Given the description of an element on the screen output the (x, y) to click on. 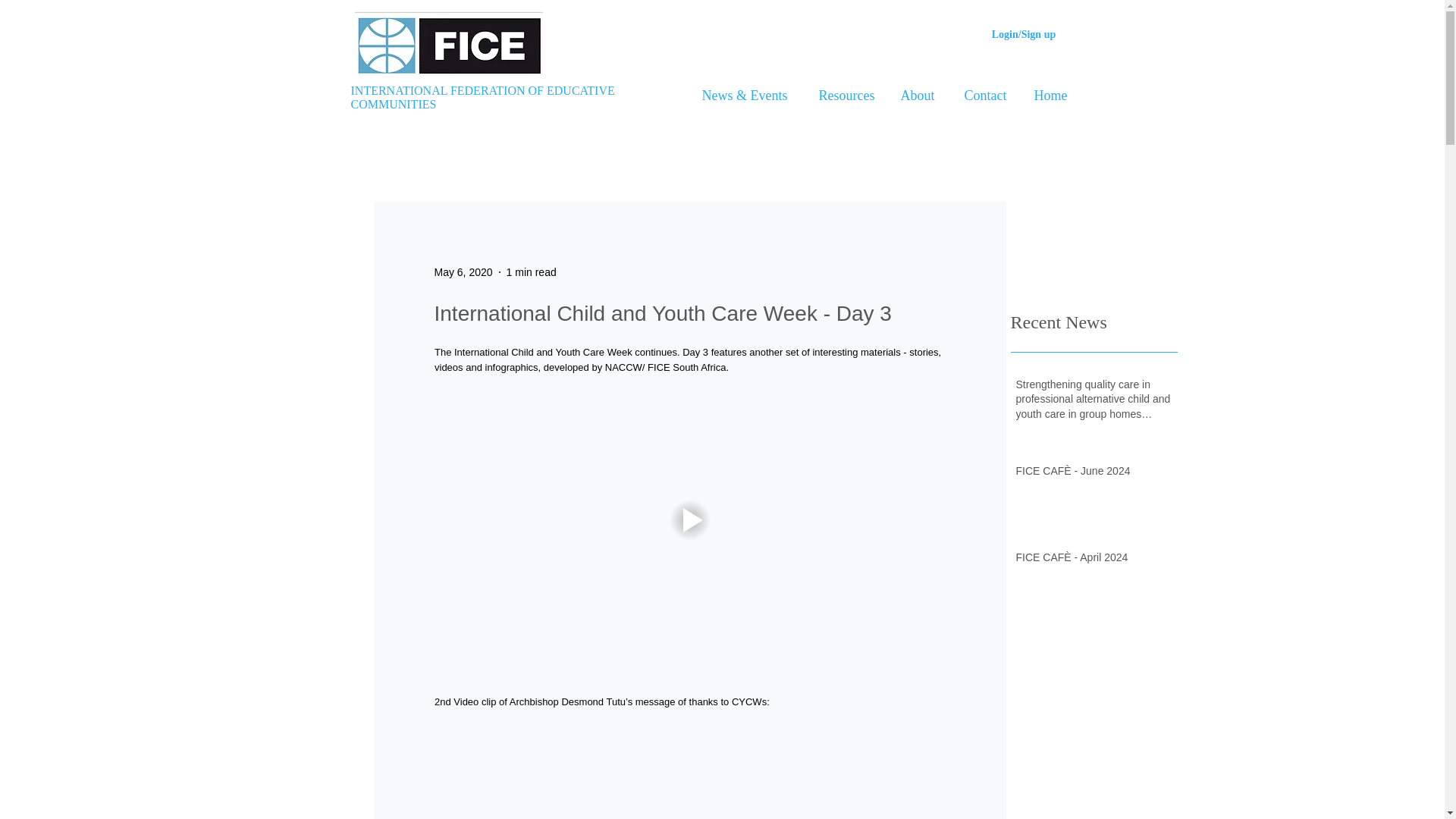
About (914, 96)
Resources (842, 96)
1 min read (531, 271)
May 6, 2020 (462, 271)
Contact (981, 96)
Home (1047, 96)
